Given the description of an element on the screen output the (x, y) to click on. 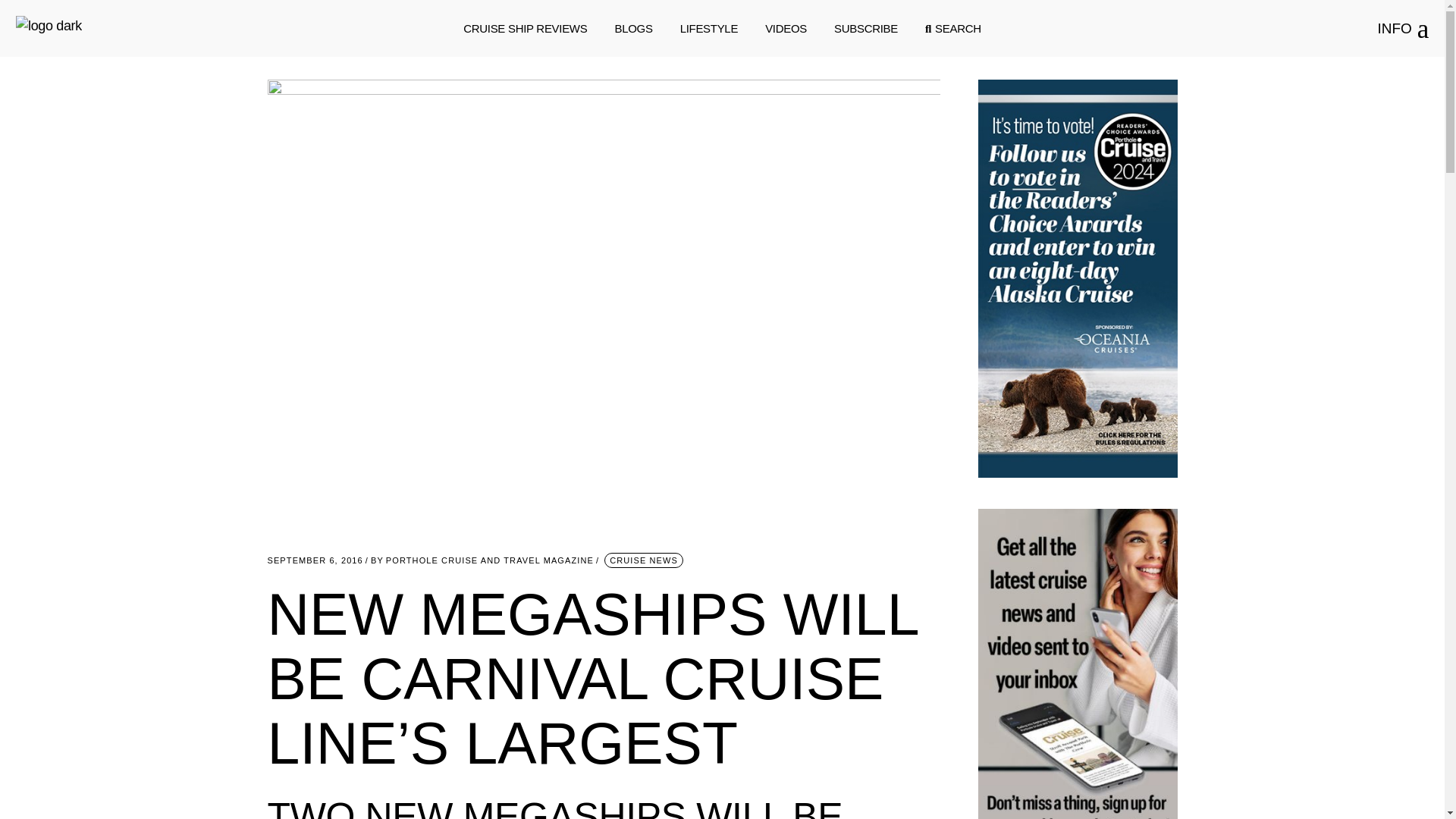
INFO (1402, 28)
SEARCH (952, 28)
SUBSCRIBE (866, 28)
CRUISE SHIP REVIEWS (524, 28)
LIFESTYLE (708, 28)
